Given the description of an element on the screen output the (x, y) to click on. 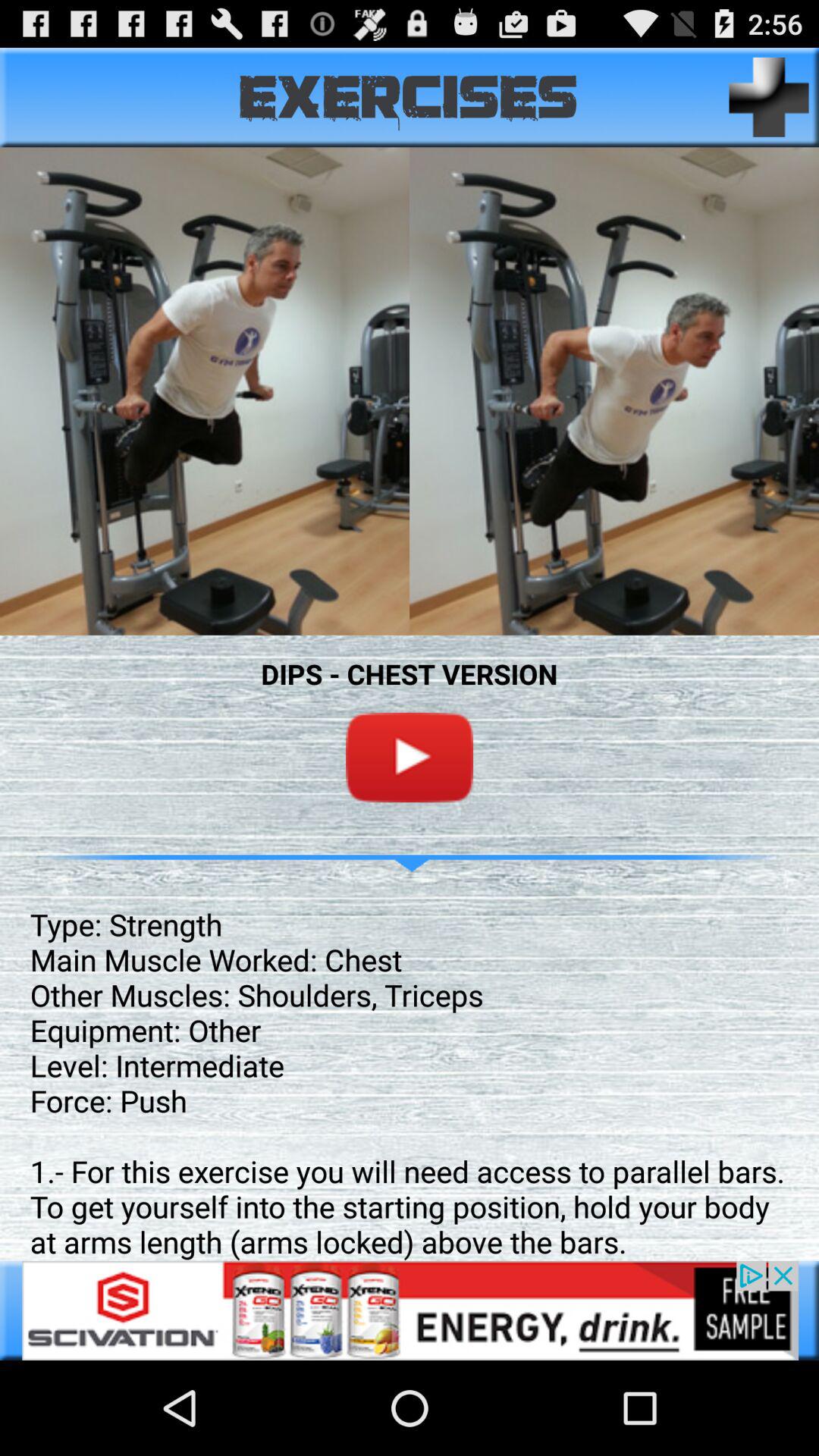
play the video (409, 757)
